Given the description of an element on the screen output the (x, y) to click on. 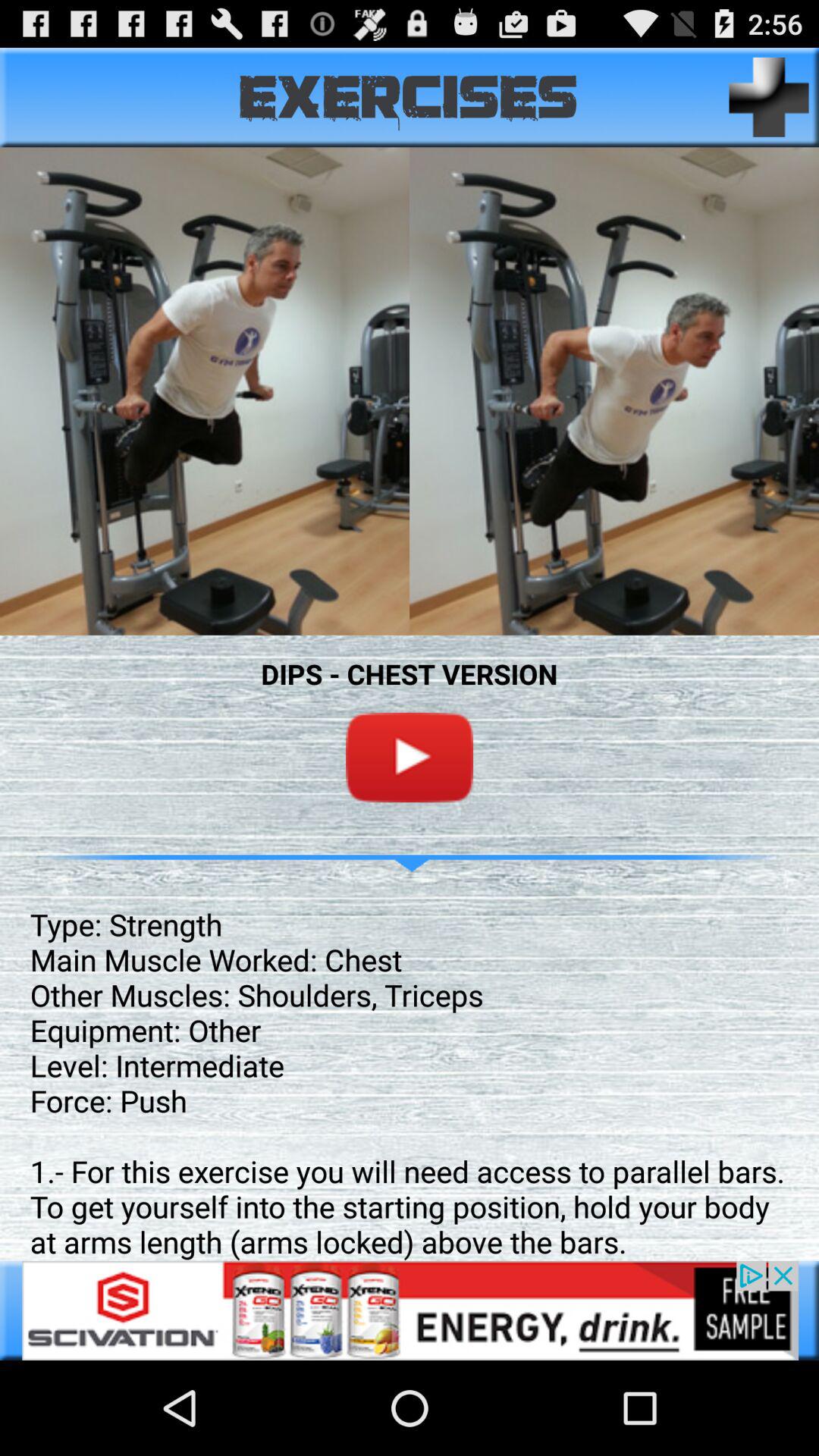
play the video (409, 757)
